Given the description of an element on the screen output the (x, y) to click on. 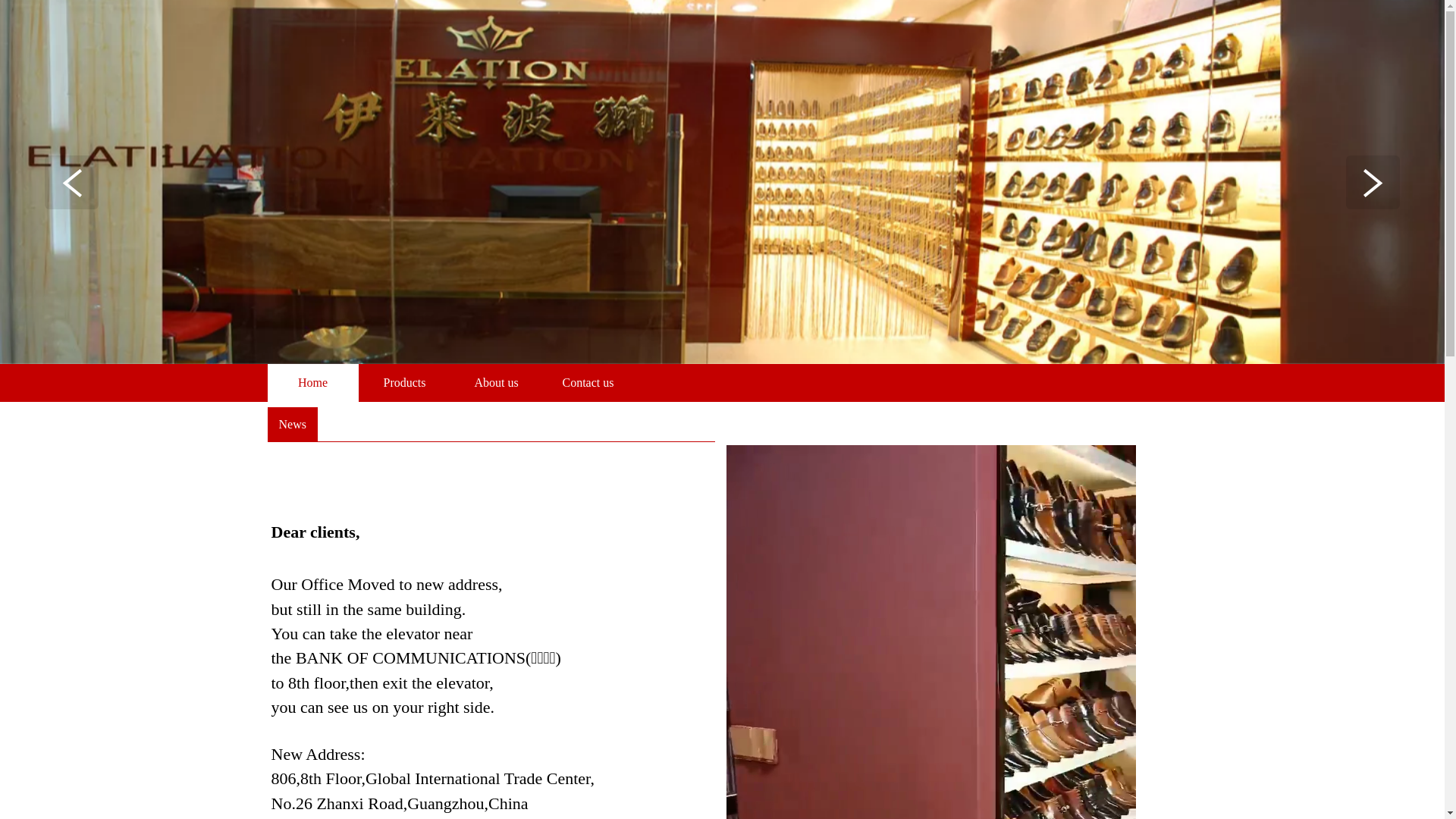
About us Element type: text (495, 382)
Products Element type: text (404, 382)
Contact us Element type: text (587, 382)
Products Element type: text (404, 382)
Contact us Element type: text (588, 382)
Home Element type: text (312, 382)
About us Element type: text (495, 382)
Home Element type: text (311, 382)
